Given the description of an element on the screen output the (x, y) to click on. 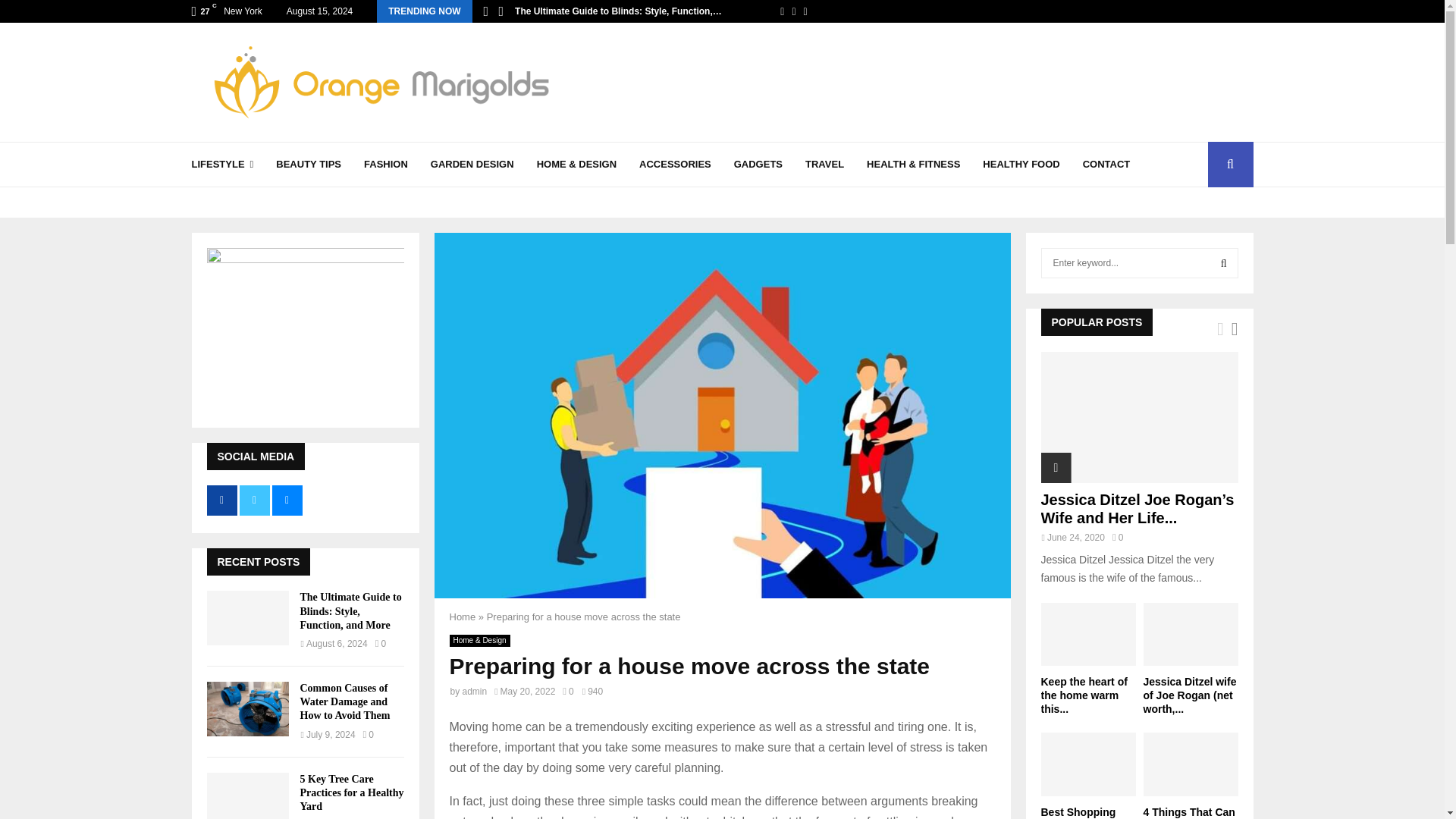
FASHION (385, 164)
CONTACT (1107, 164)
 The Ultimate Guide to Blinds: Style, Function, and More  (350, 610)
HEALTHY FOOD (1020, 164)
ACCESSORIES (675, 164)
The Ultimate Guide to Blinds: Style, Function, and More (247, 617)
GADGETS (758, 164)
BEAUTY TIPS (308, 164)
GARDEN DESIGN (471, 164)
Common Causes of Water Damage and How to Avoid Them (247, 708)
